Given the description of an element on the screen output the (x, y) to click on. 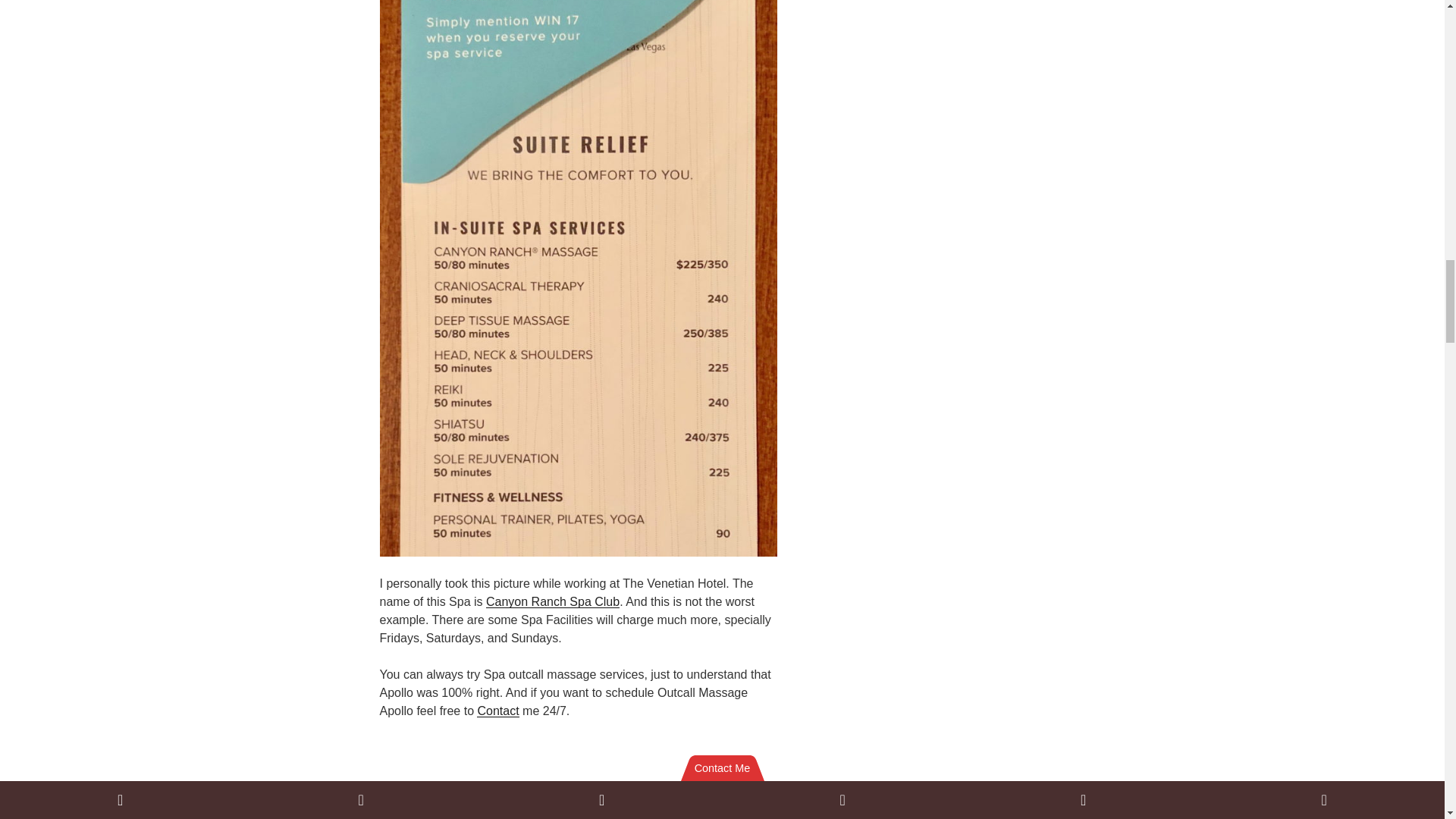
Contact (497, 710)
Canyon Ranch Spa Club (553, 601)
